Given the description of an element on the screen output the (x, y) to click on. 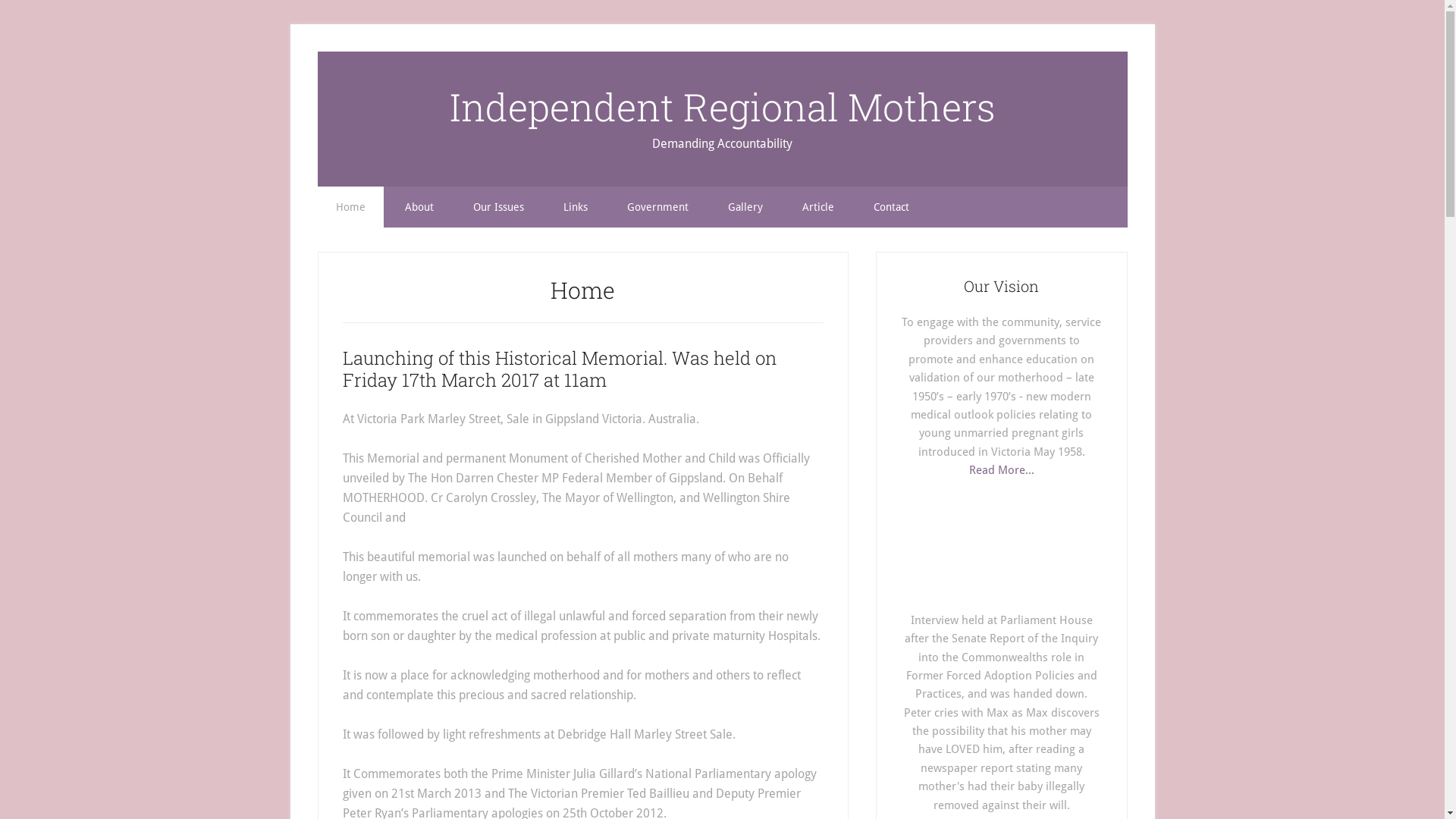
Gallery Element type: text (745, 206)
Home Element type: text (349, 206)
About Element type: text (418, 206)
Read More... Element type: text (1001, 469)
Government Element type: text (657, 206)
Contact Element type: text (891, 206)
Links Element type: text (574, 206)
Our Issues Element type: text (498, 206)
Independent Regional Mothers Element type: text (721, 106)
Article Element type: text (818, 206)
